Given the description of an element on the screen output the (x, y) to click on. 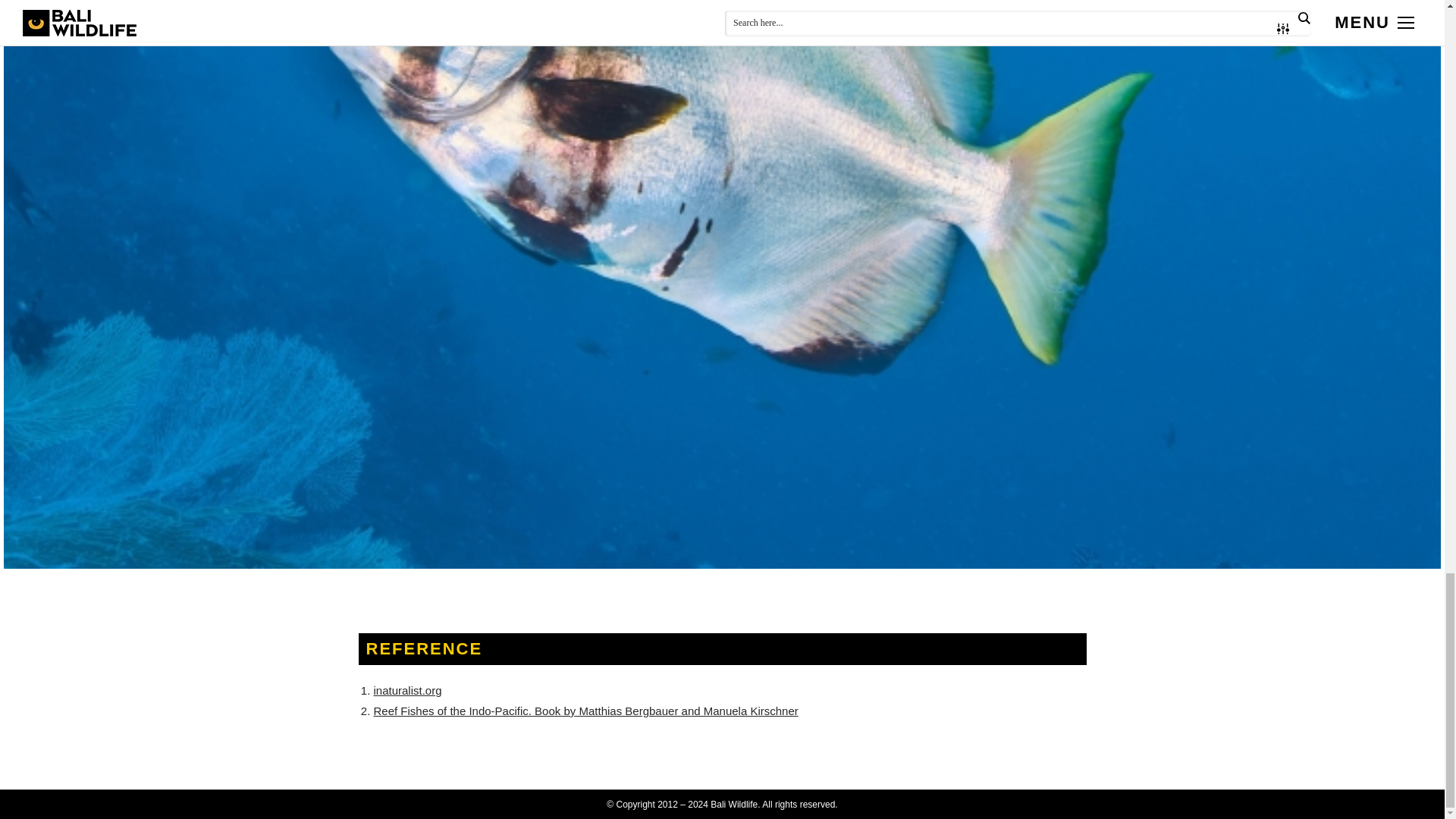
inaturalist.org (406, 689)
